Given the description of an element on the screen output the (x, y) to click on. 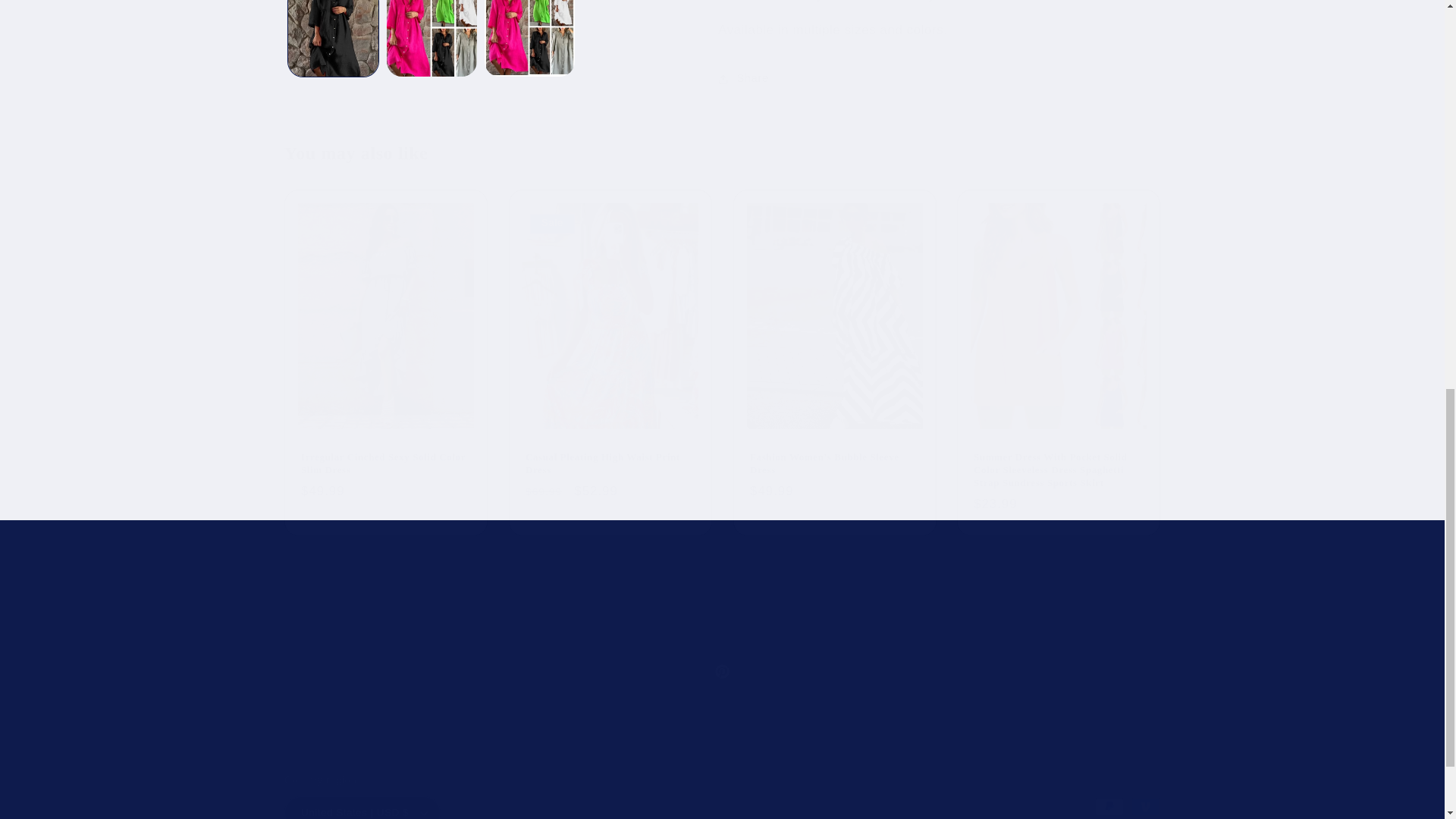
Pinterest (721, 671)
